Given the description of an element on the screen output the (x, y) to click on. 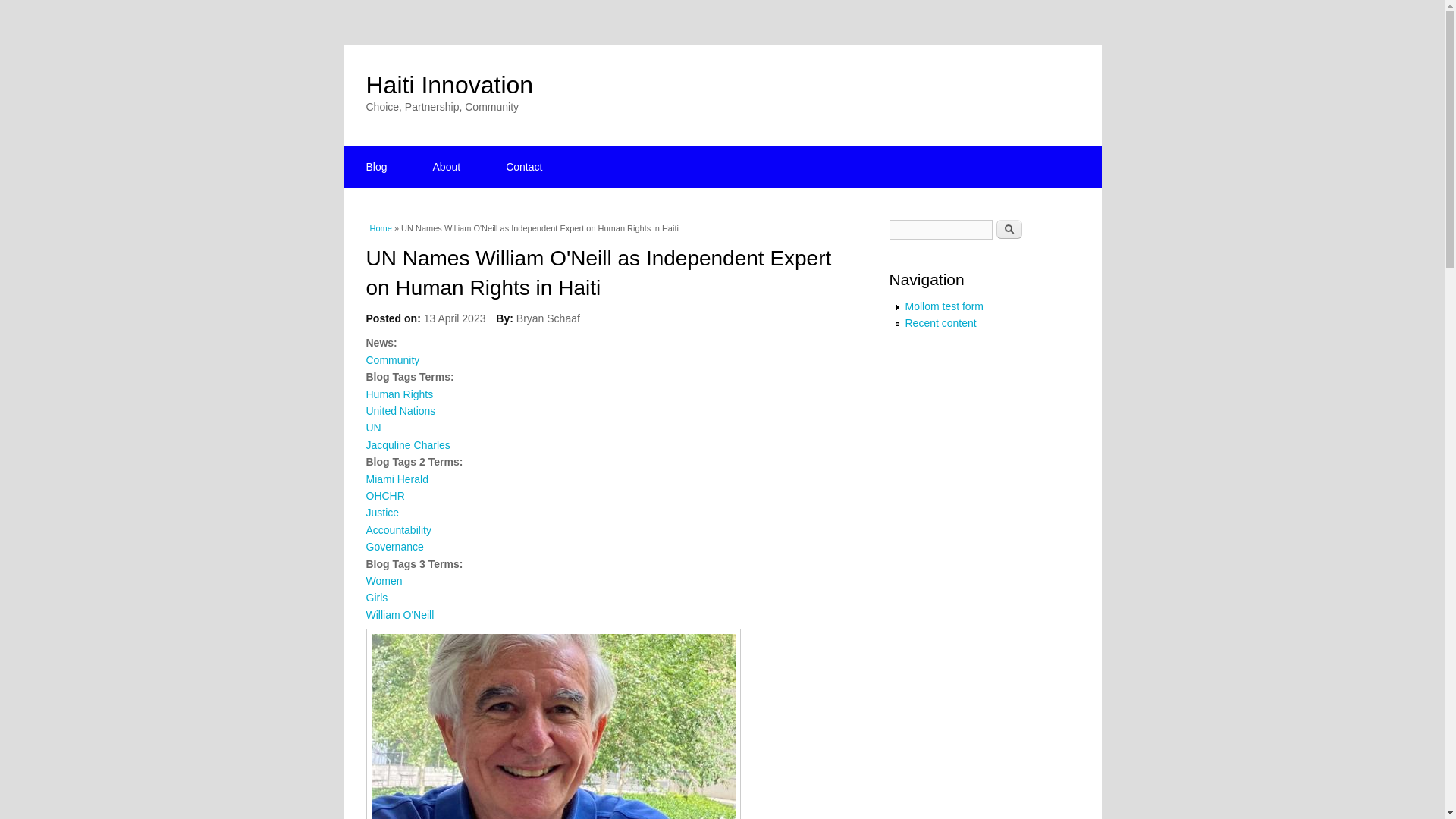
About Haiti Innovation (446, 167)
Justice (381, 512)
UN (372, 427)
Home (380, 227)
About (446, 167)
Girls (376, 597)
United Nations (400, 410)
Haiti Innovation (448, 84)
Human Rights (398, 394)
Search (1008, 229)
Home (448, 84)
Miami Herald (396, 479)
Community (392, 359)
Jacquline Charles (407, 444)
Contact (523, 167)
